Given the description of an element on the screen output the (x, y) to click on. 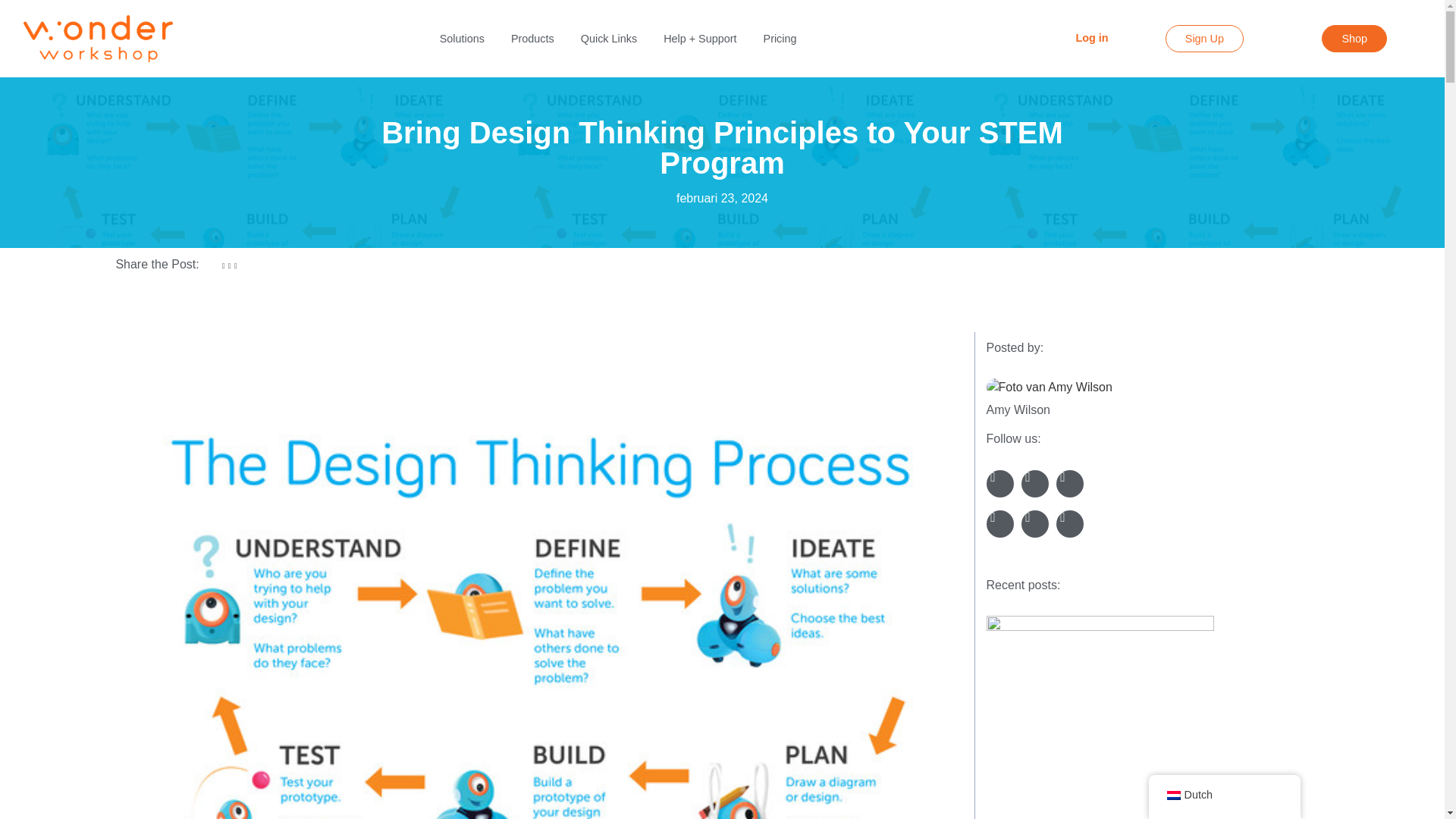
Solutions (461, 38)
Dutch (1172, 795)
Pricing (779, 38)
Quick Links (608, 38)
Products (532, 38)
